Given the description of an element on the screen output the (x, y) to click on. 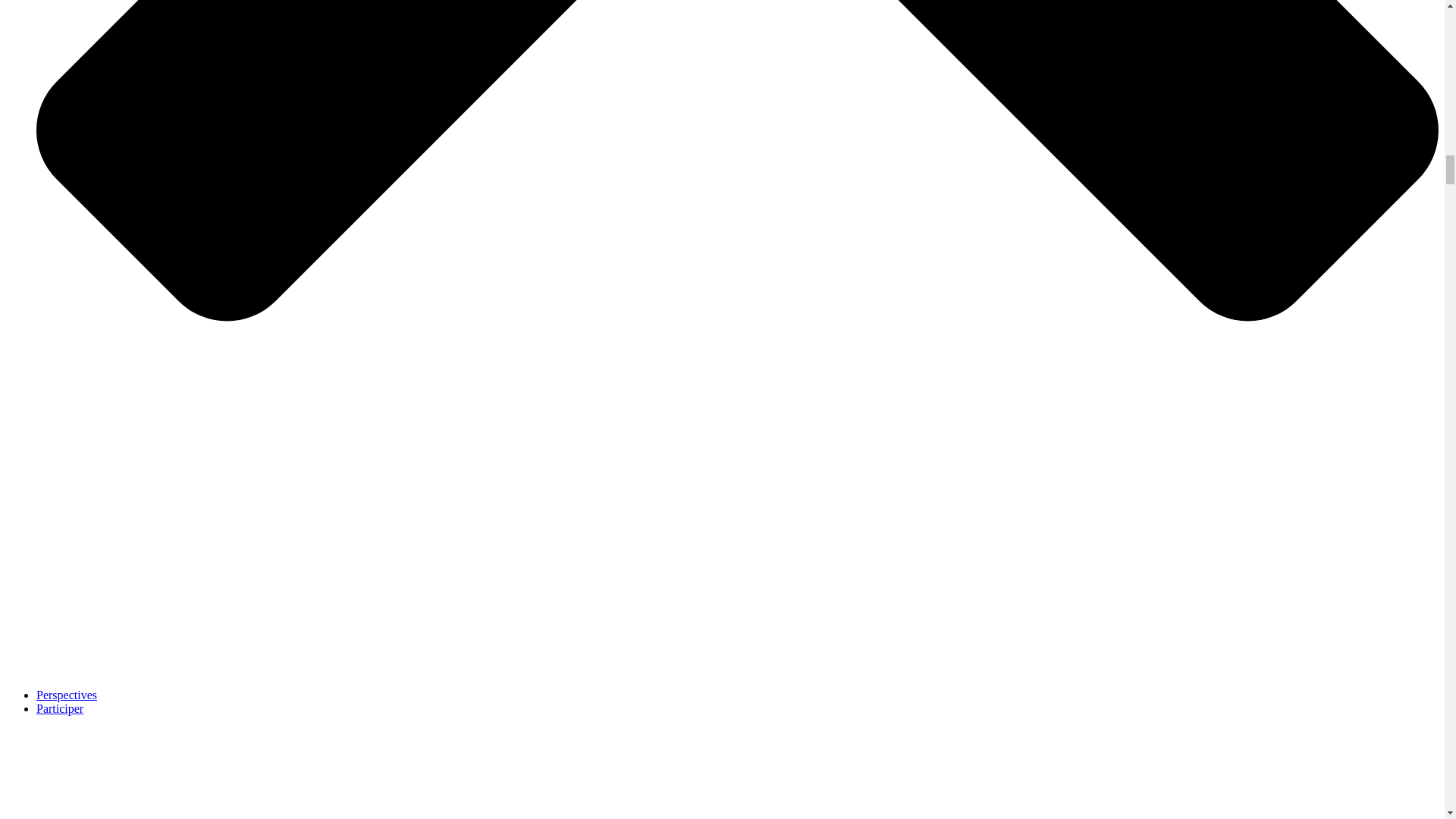
Perspectives (66, 694)
Perspectives (66, 694)
